Given the description of an element on the screen output the (x, y) to click on. 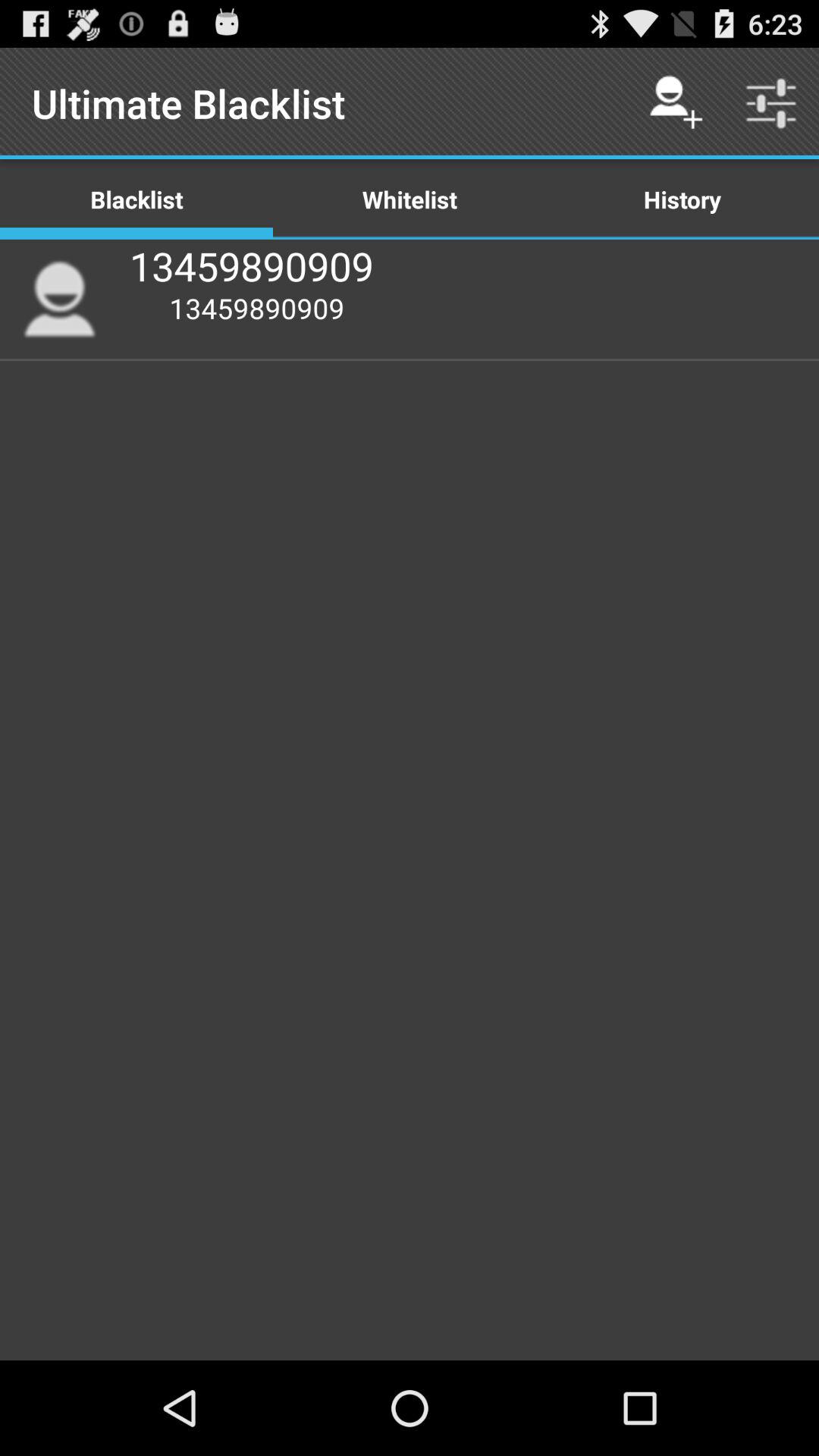
launch the icon to the right of the whitelist item (682, 199)
